Given the description of an element on the screen output the (x, y) to click on. 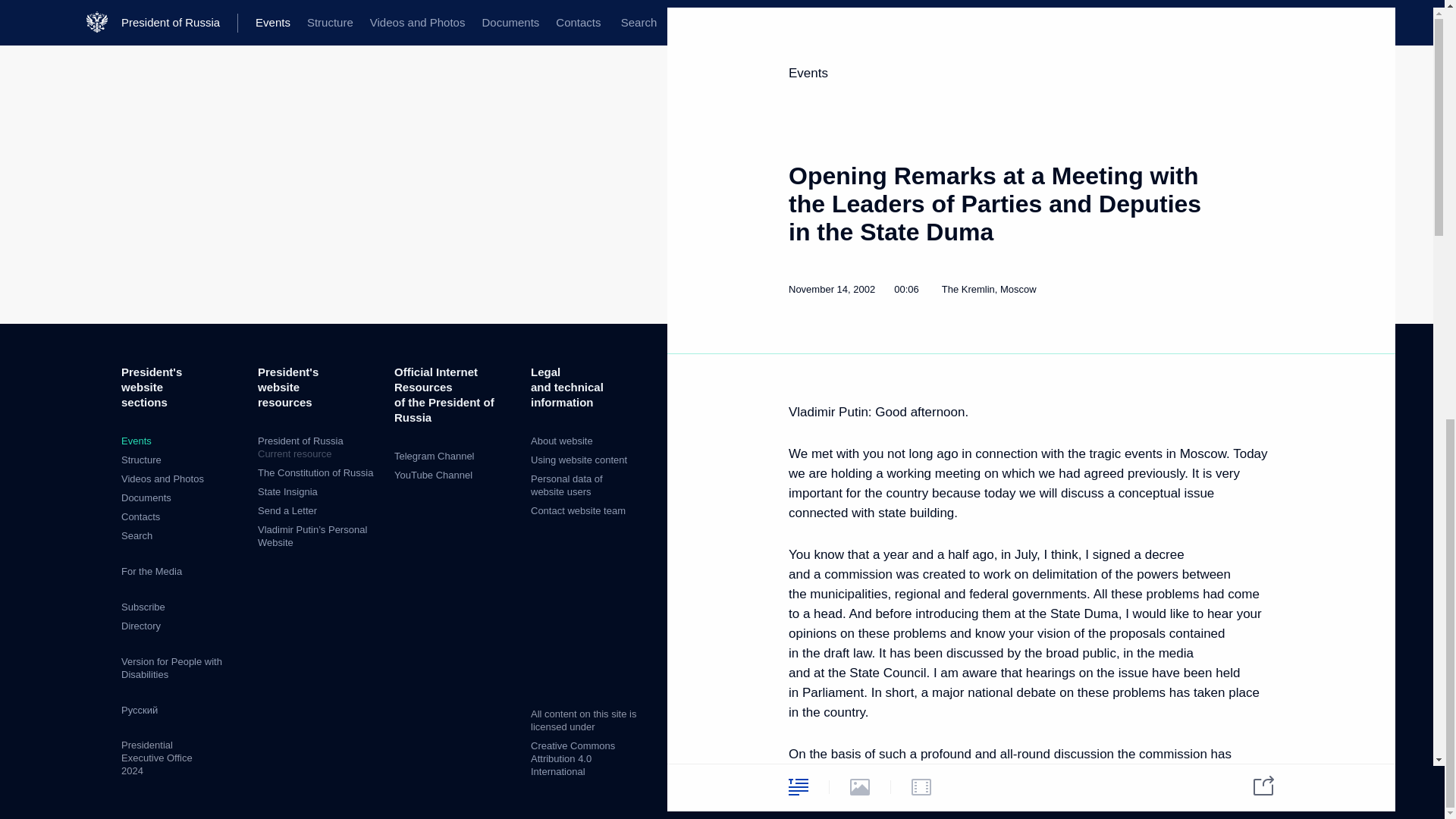
State Insignia (287, 491)
YouTube Channel (432, 474)
Telegram Channel (434, 455)
Subscribe (142, 606)
Contacts (140, 516)
Personal data of website users (566, 485)
The Constitution of Russia (314, 472)
Using website content (579, 460)
Creative Commons Attribution 4.0 International (572, 758)
Structure (140, 460)
Directory (140, 625)
About website (561, 440)
Documents (145, 497)
Contact website team (317, 447)
